Given the description of an element on the screen output the (x, y) to click on. 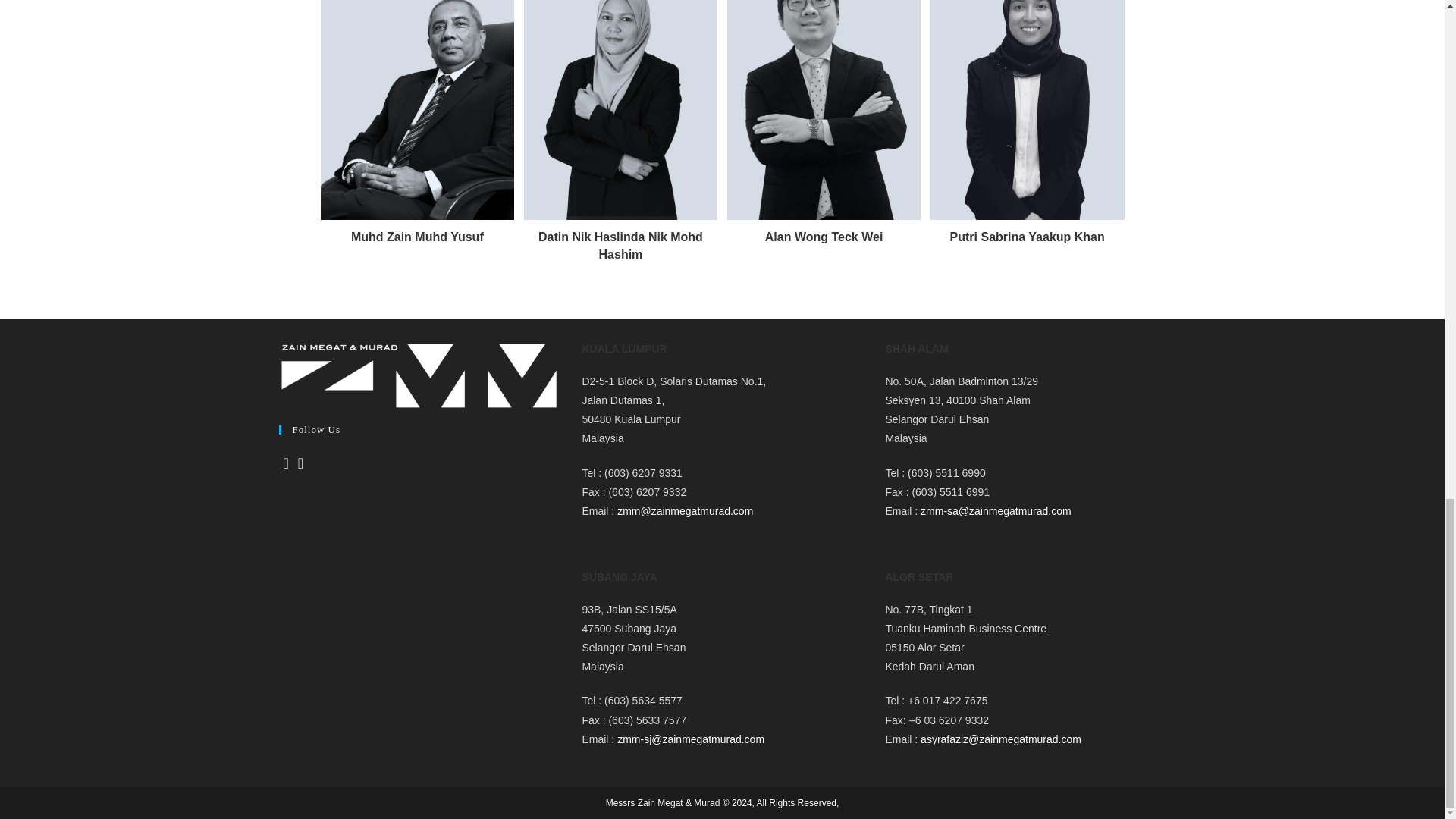
Datin Nik Haslinda Nik Mohd Hashim (620, 245)
Muhd Zain Muhd Yusuf (417, 237)
Putri Sabrina Yaakup Khan (1027, 237)
Alan Wong Teck Wei (824, 237)
